Given the description of an element on the screen output the (x, y) to click on. 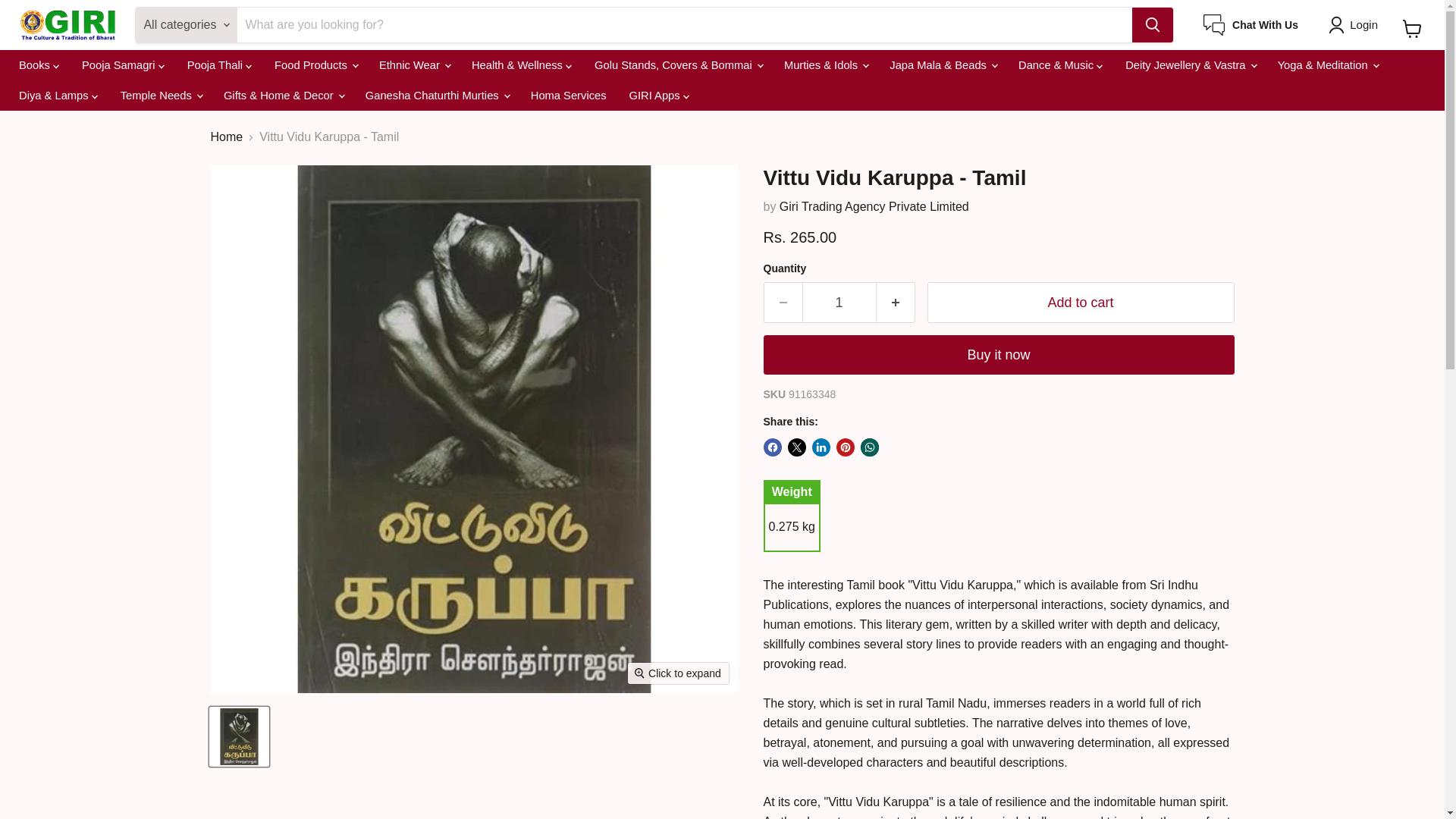
View cart (1411, 28)
Login (1355, 24)
1 (839, 302)
Giri Trading Agency Private Limited (873, 205)
Chat With Us (1251, 25)
